Given the description of an element on the screen output the (x, y) to click on. 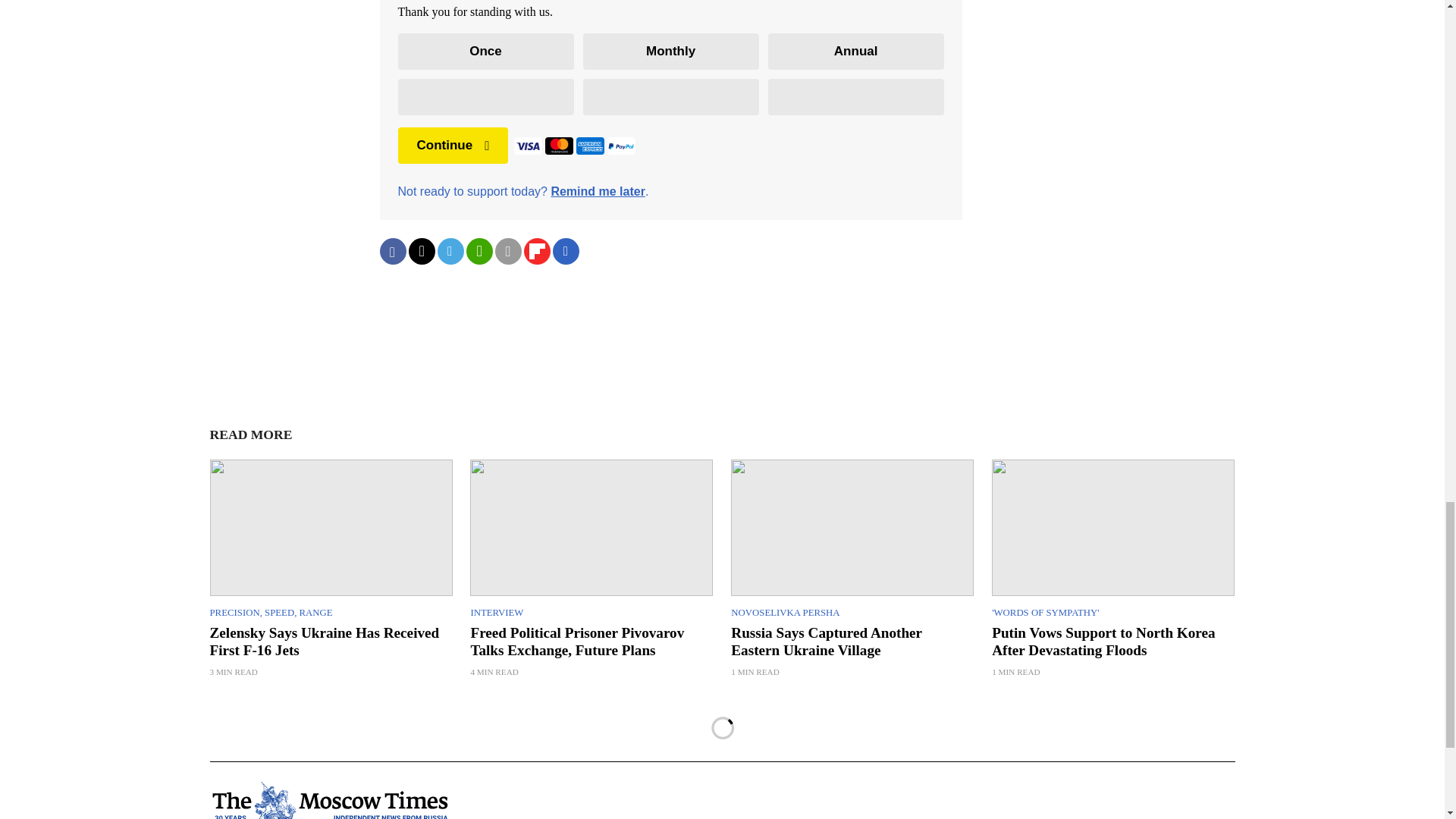
Share on Telegram (449, 251)
Share on Facebook (392, 251)
Share on Flipboard (536, 251)
Share on Twitter (420, 251)
